Given the description of an element on the screen output the (x, y) to click on. 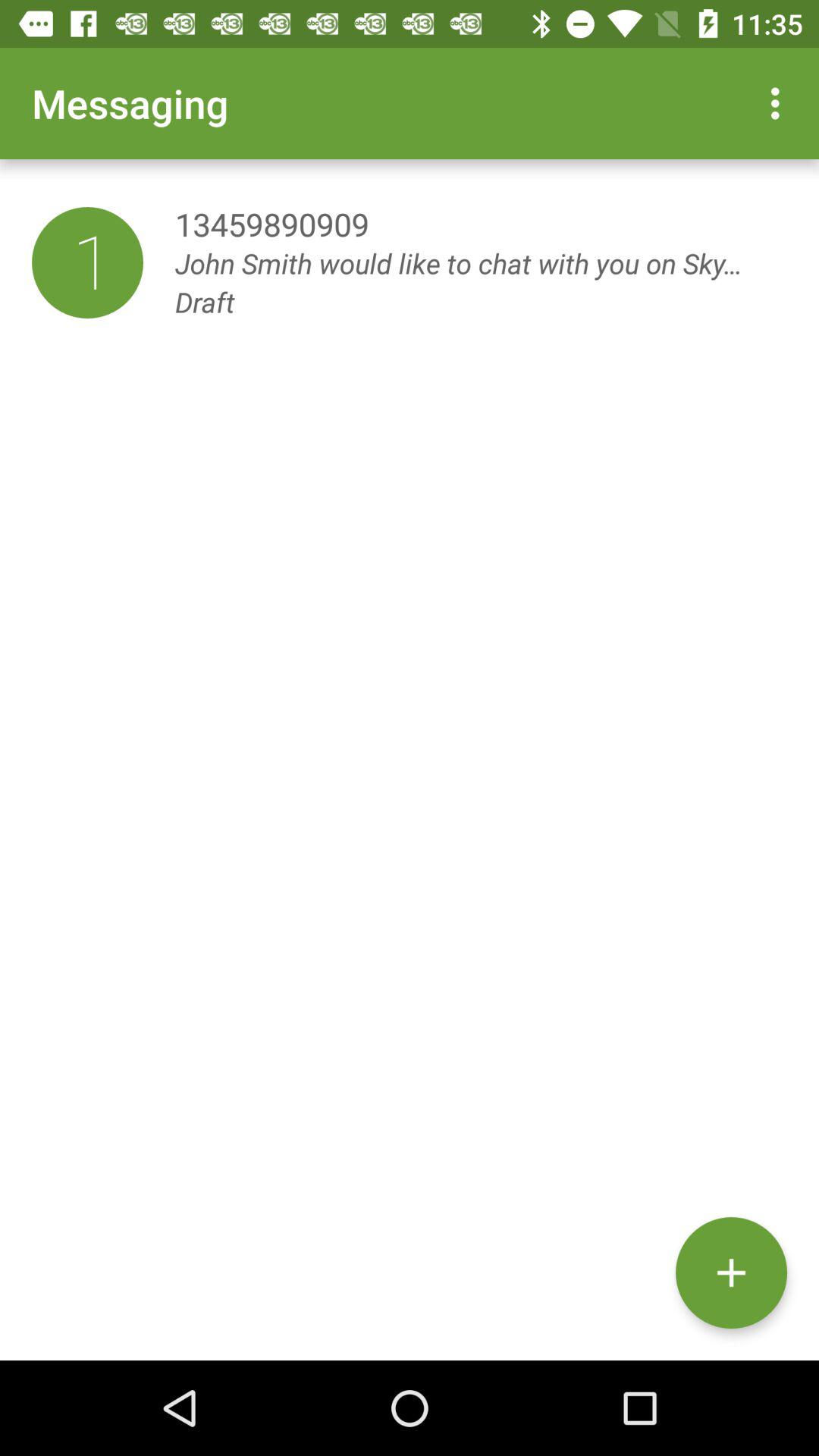
open the icon at the top right corner (779, 103)
